Given the description of an element on the screen output the (x, y) to click on. 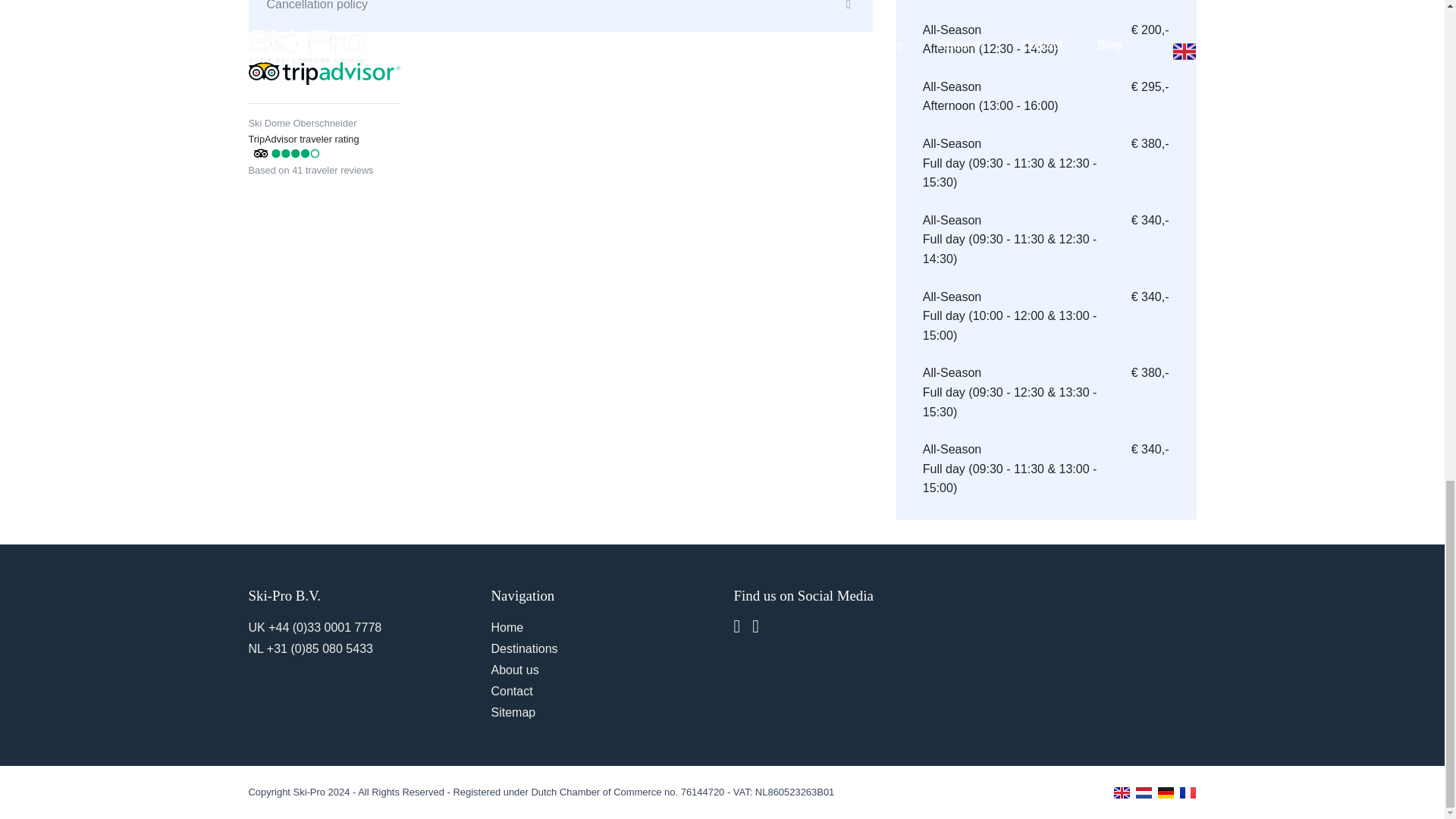
Contact (512, 690)
Sitemap (513, 712)
Ski Dome Oberschneider (302, 122)
About us (515, 669)
Cancellation policy (560, 16)
Based on 41 traveler reviews (311, 168)
Home (508, 626)
Destinations (524, 648)
